Given the description of an element on the screen output the (x, y) to click on. 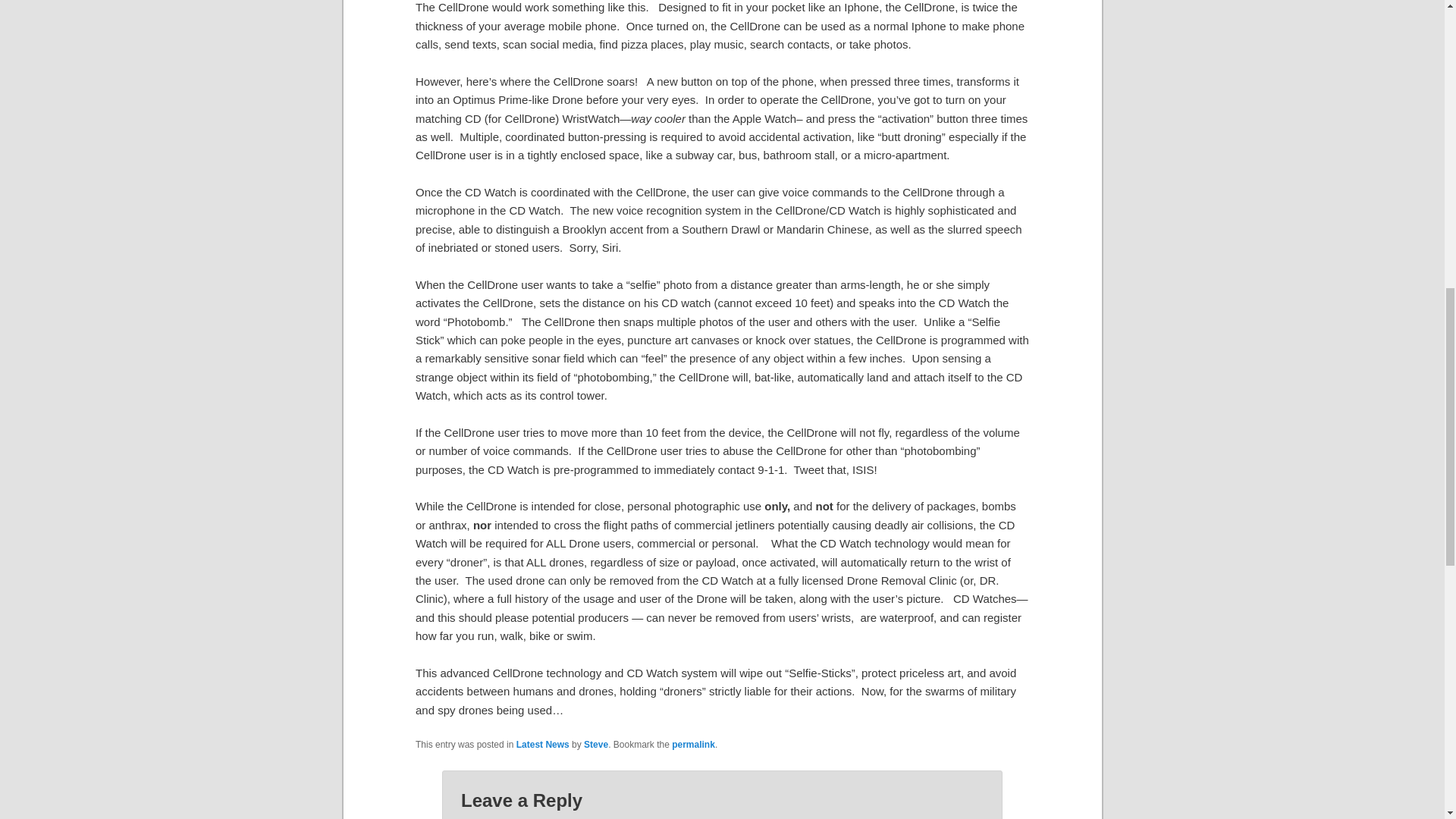
Steve (595, 744)
Permalink to From Apple Watches to Cell Drones? (692, 744)
Latest News (542, 744)
permalink (692, 744)
